Given the description of an element on the screen output the (x, y) to click on. 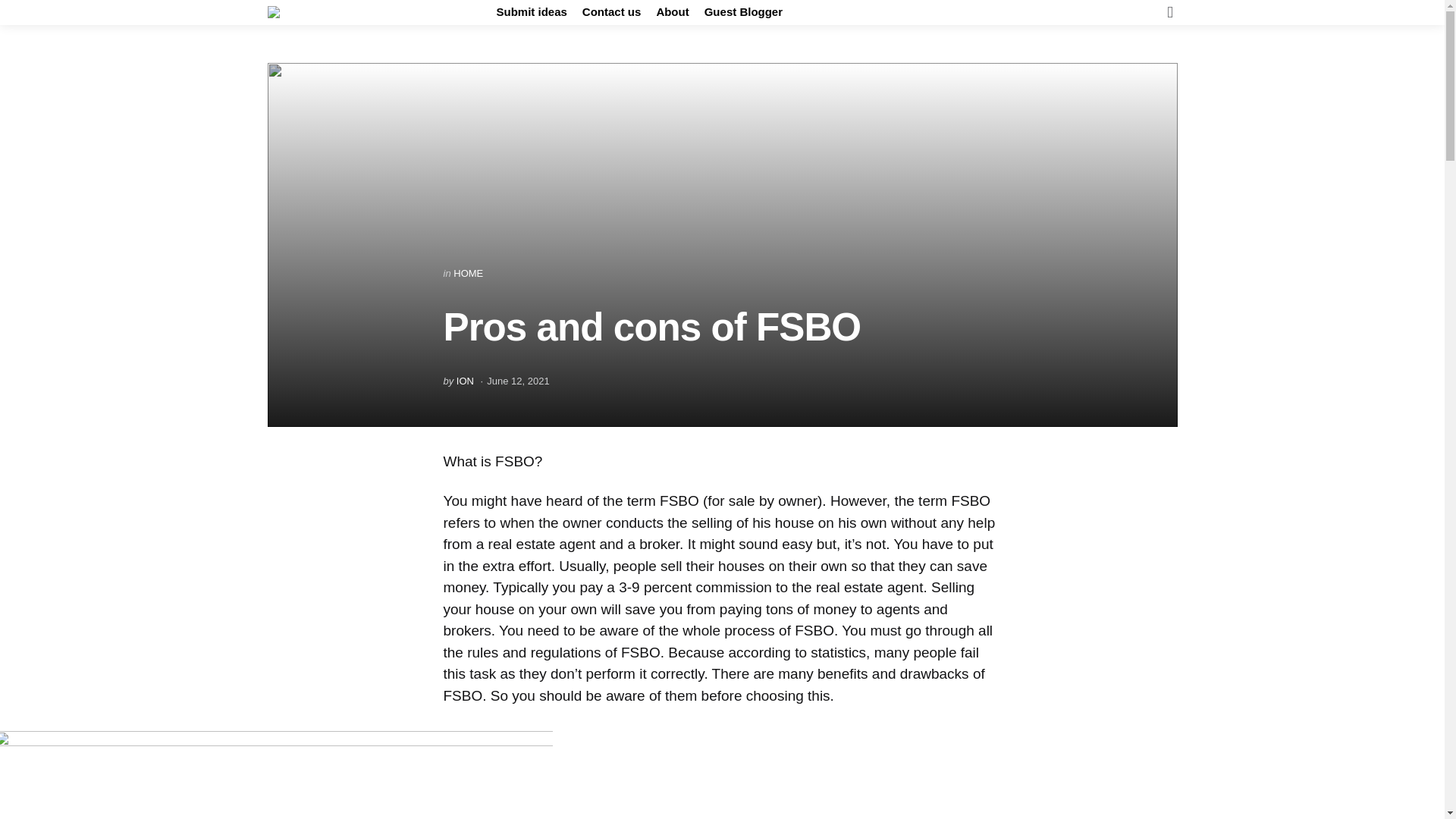
About (672, 12)
Submit ideas (531, 12)
Guest Blogger (743, 12)
Contact us (612, 12)
ION (465, 380)
HOME (467, 273)
